Given the description of an element on the screen output the (x, y) to click on. 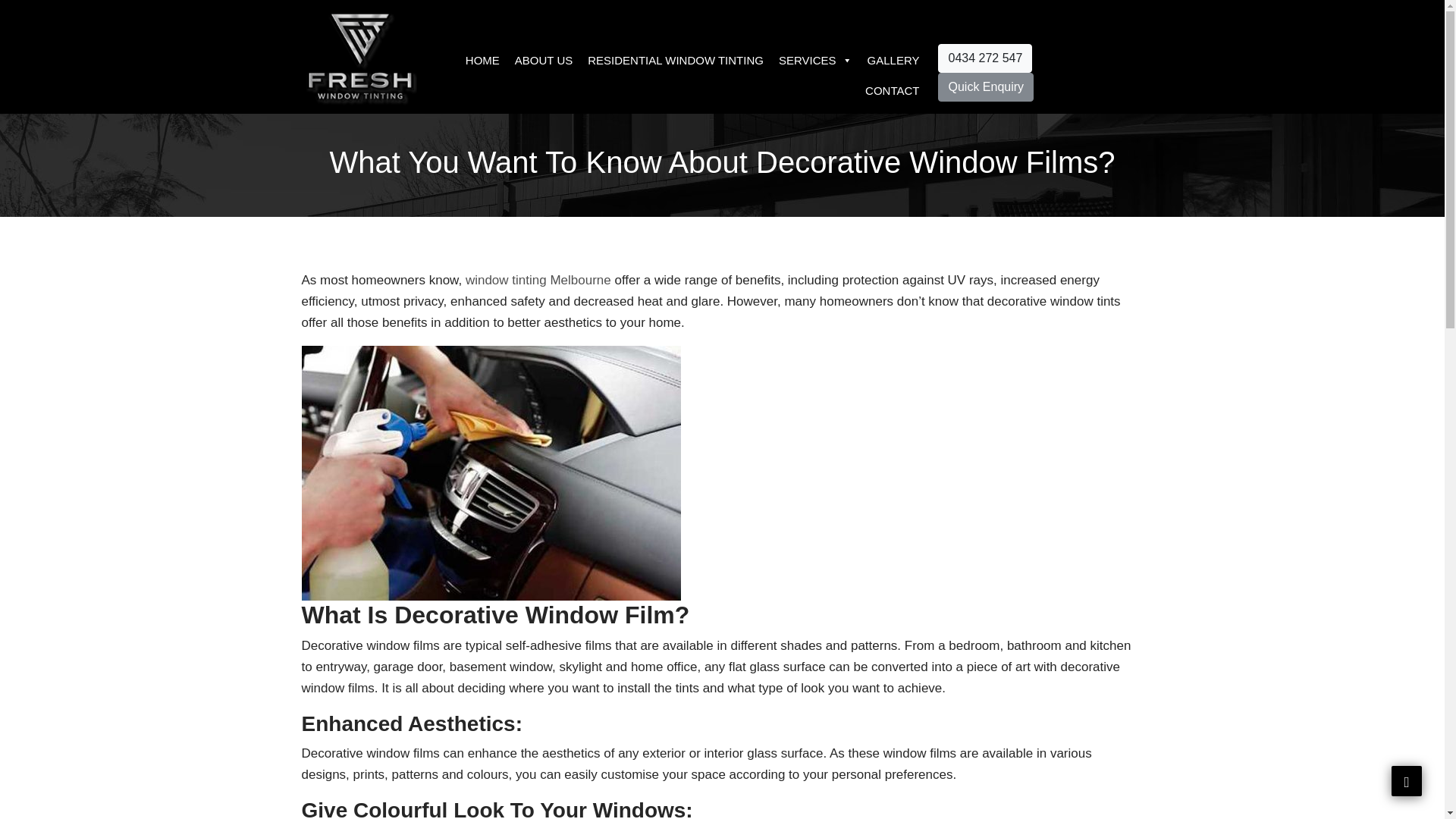
CONTACT (891, 91)
RESIDENTIAL WINDOW TINTING (675, 60)
Quick Enquiry (985, 86)
ABOUT US (542, 60)
GALLERY (893, 60)
window tinting Melbourne (538, 279)
SERVICES (815, 60)
0434 272 547 (984, 58)
HOME (482, 60)
